Given the description of an element on the screen output the (x, y) to click on. 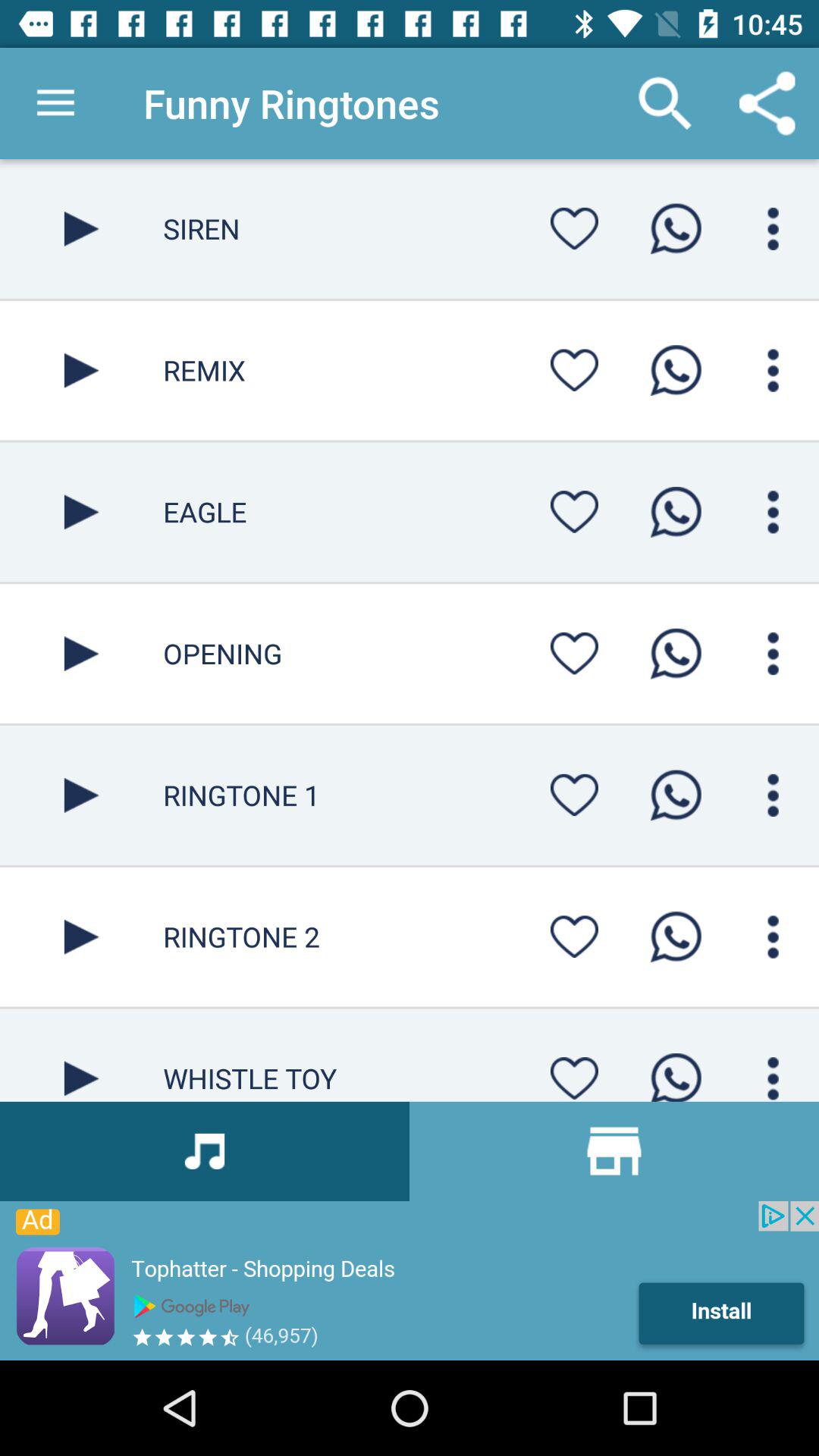
like option (574, 228)
